Given the description of an element on the screen output the (x, y) to click on. 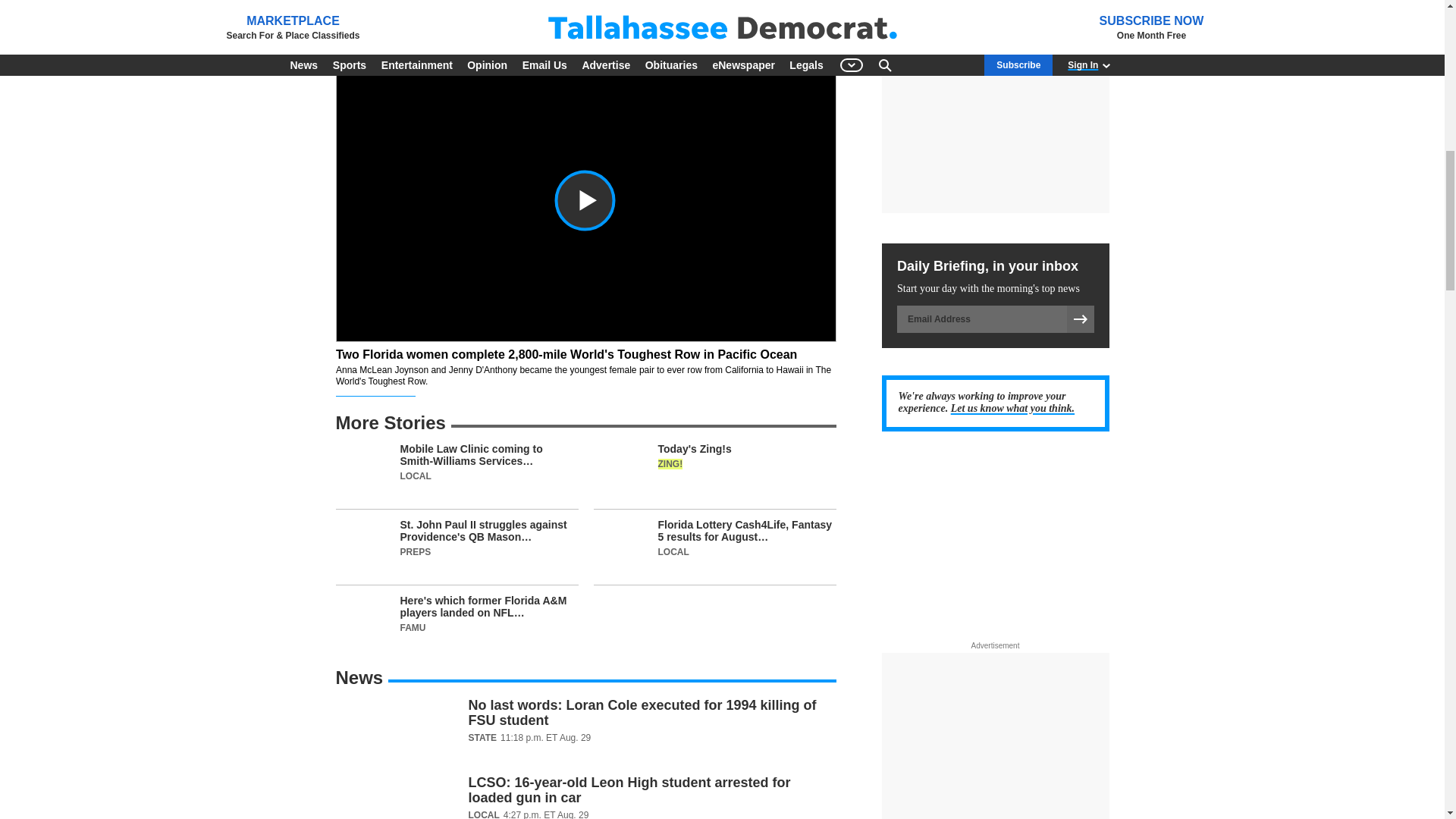
Mobile Law Clinic coming to Smith-Williams Services Center (456, 476)
'Threatening messages' cause TMH to shut several entrances (756, 7)
Today's Zing!s (713, 476)
